Given the description of an element on the screen output the (x, y) to click on. 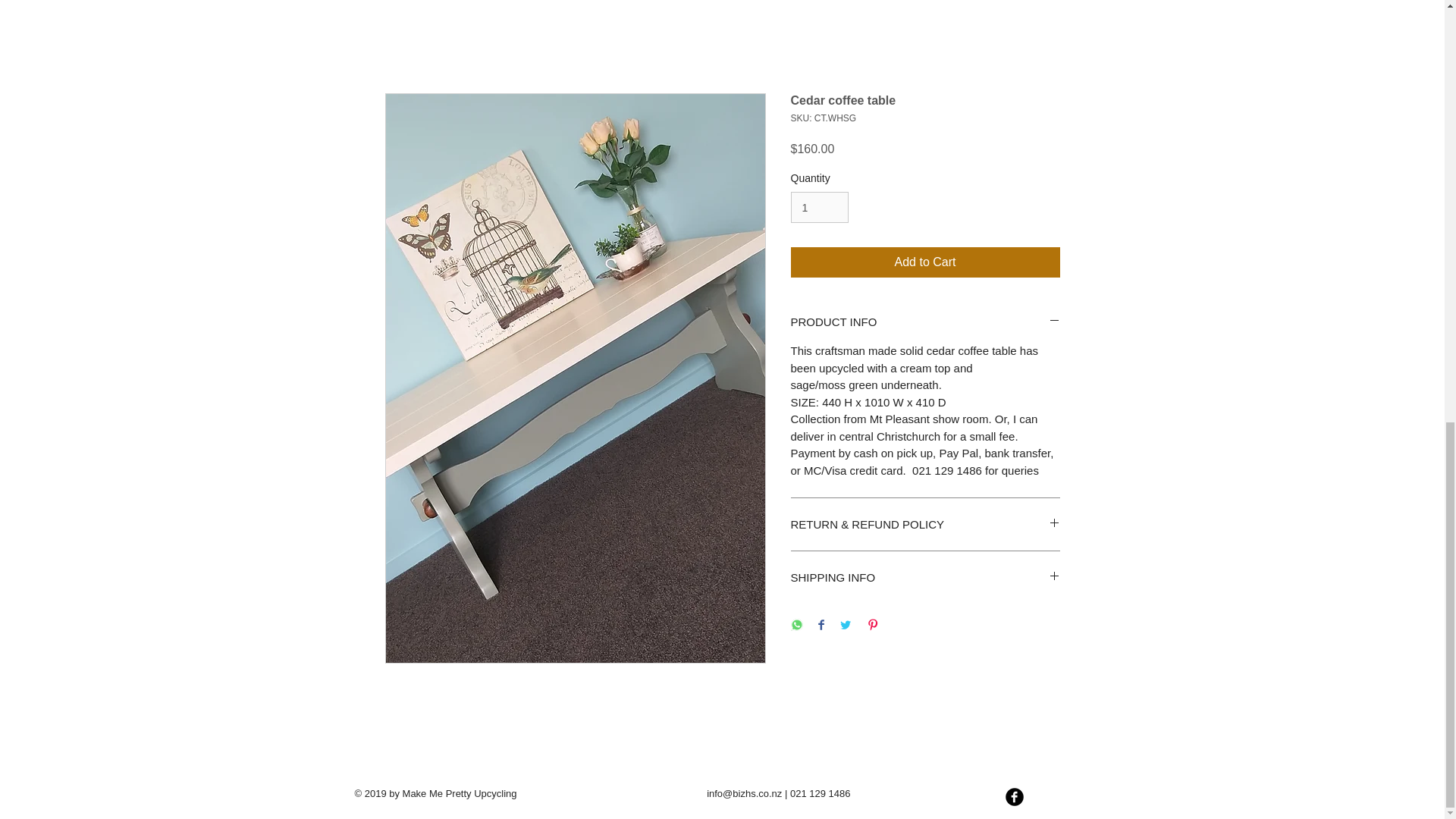
PRODUCT INFO (924, 321)
SHIPPING INFO (924, 577)
Add to Cart (924, 262)
1 (818, 206)
